Given the description of an element on the screen output the (x, y) to click on. 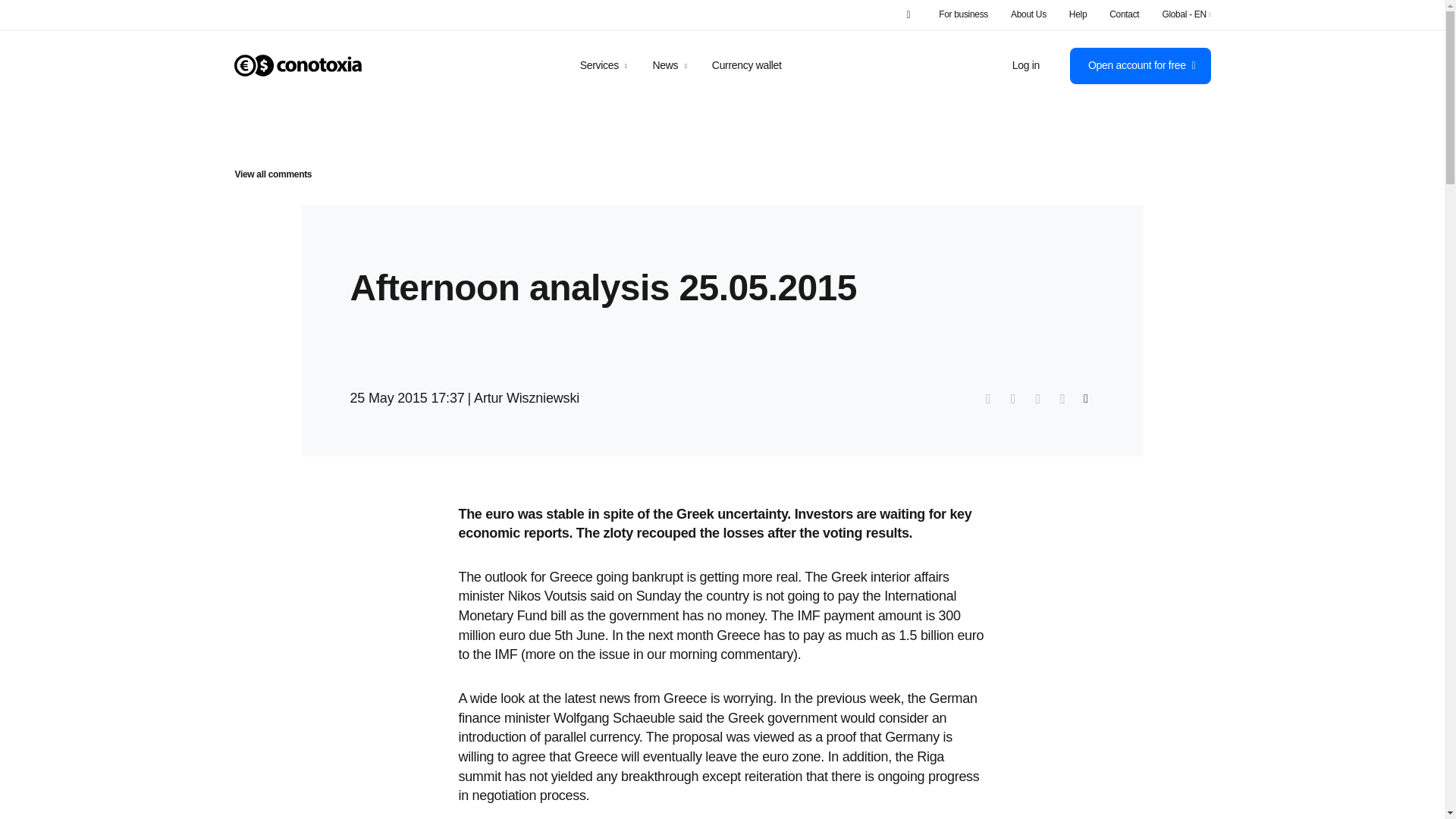
Help (1077, 14)
Open account for free (1140, 65)
For business (963, 14)
Currency wallet (746, 64)
About Us (1028, 14)
Contact (1123, 14)
News (669, 64)
Services (603, 64)
Log in (1025, 65)
